Given the description of an element on the screen output the (x, y) to click on. 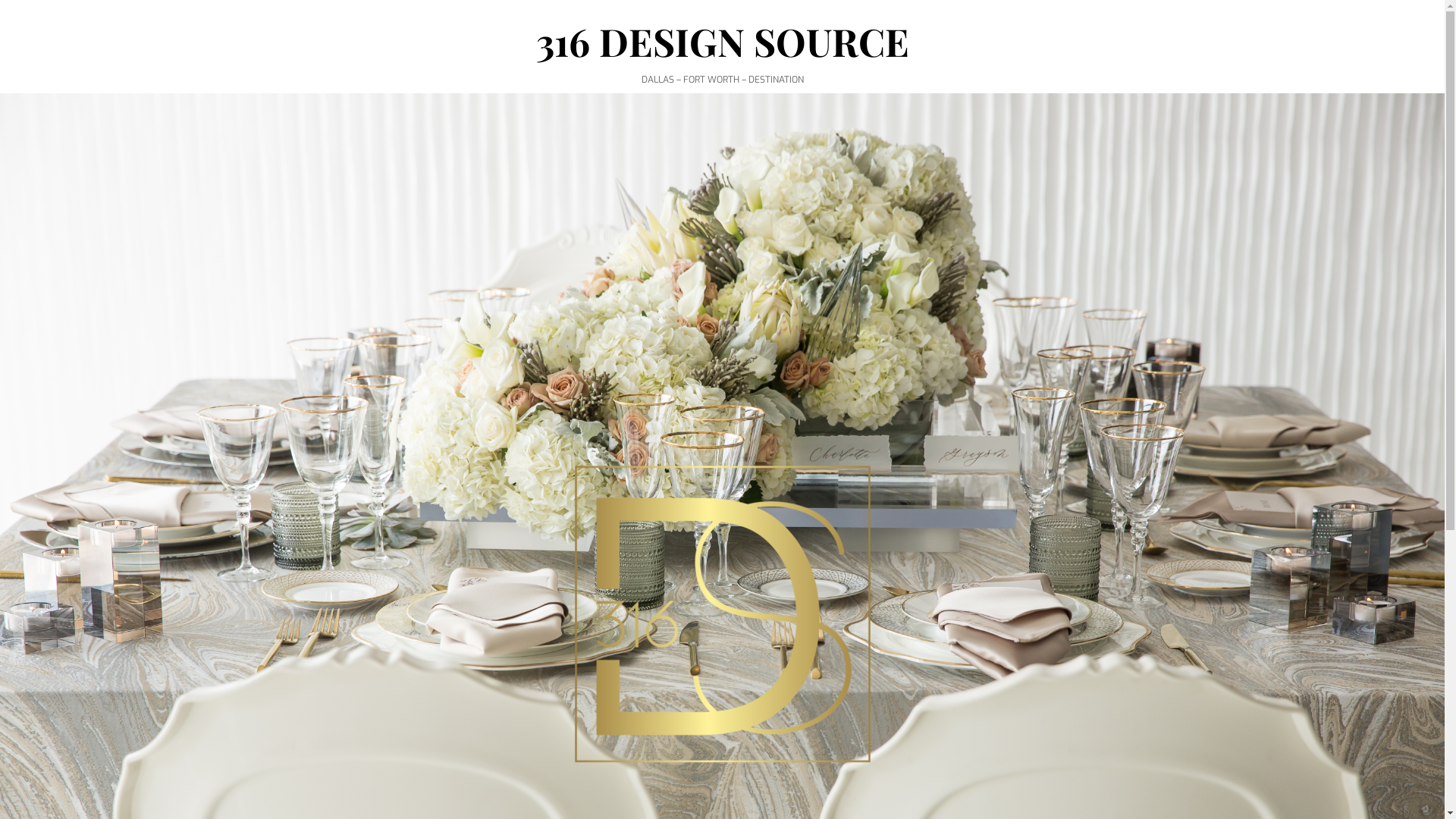
316 DESIGN SOURCE Element type: text (721, 40)
